Given the description of an element on the screen output the (x, y) to click on. 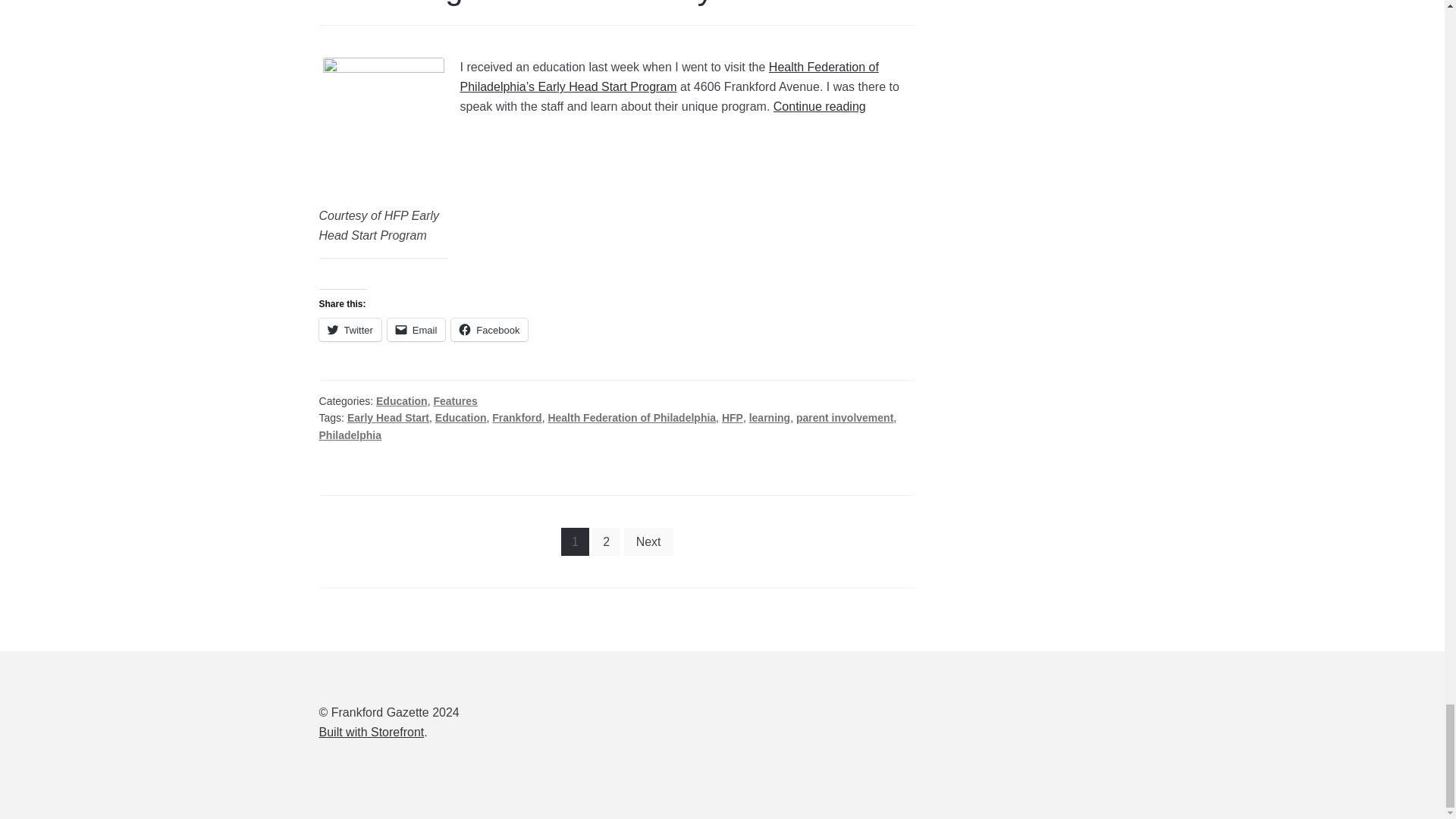
baby (383, 125)
Health Federation of Philadelphia's Early Head Start Program (669, 76)
Click to share on Twitter (349, 329)
